Given the description of an element on the screen output the (x, y) to click on. 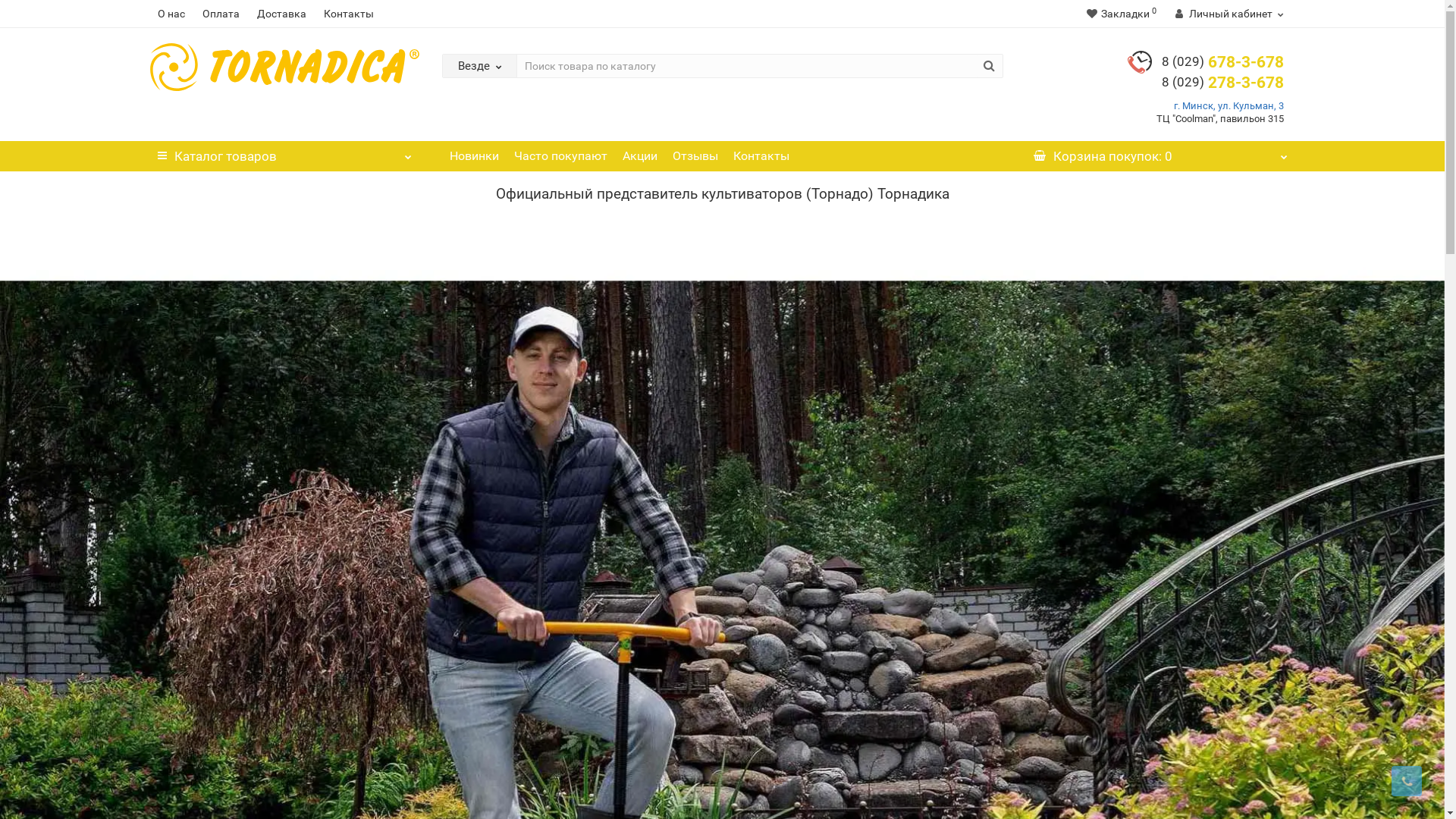
8 (029) 678-3-678 Element type: text (1222, 62)
8 (029) 278-3-678 Element type: text (1222, 82)
